Given the description of an element on the screen output the (x, y) to click on. 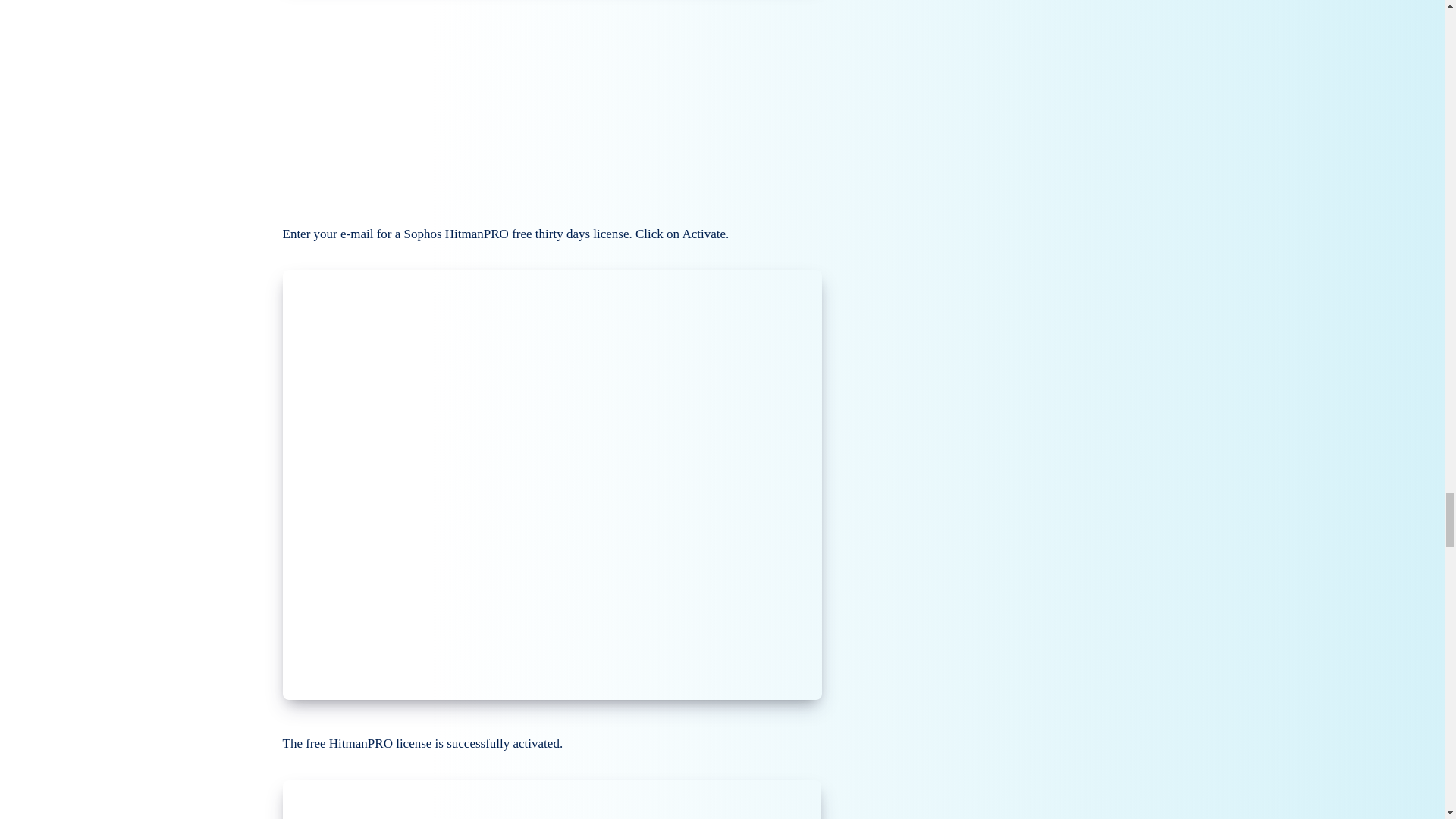
How to remove applebmdavlocalized.dll 34 (551, 799)
